Given the description of an element on the screen output the (x, y) to click on. 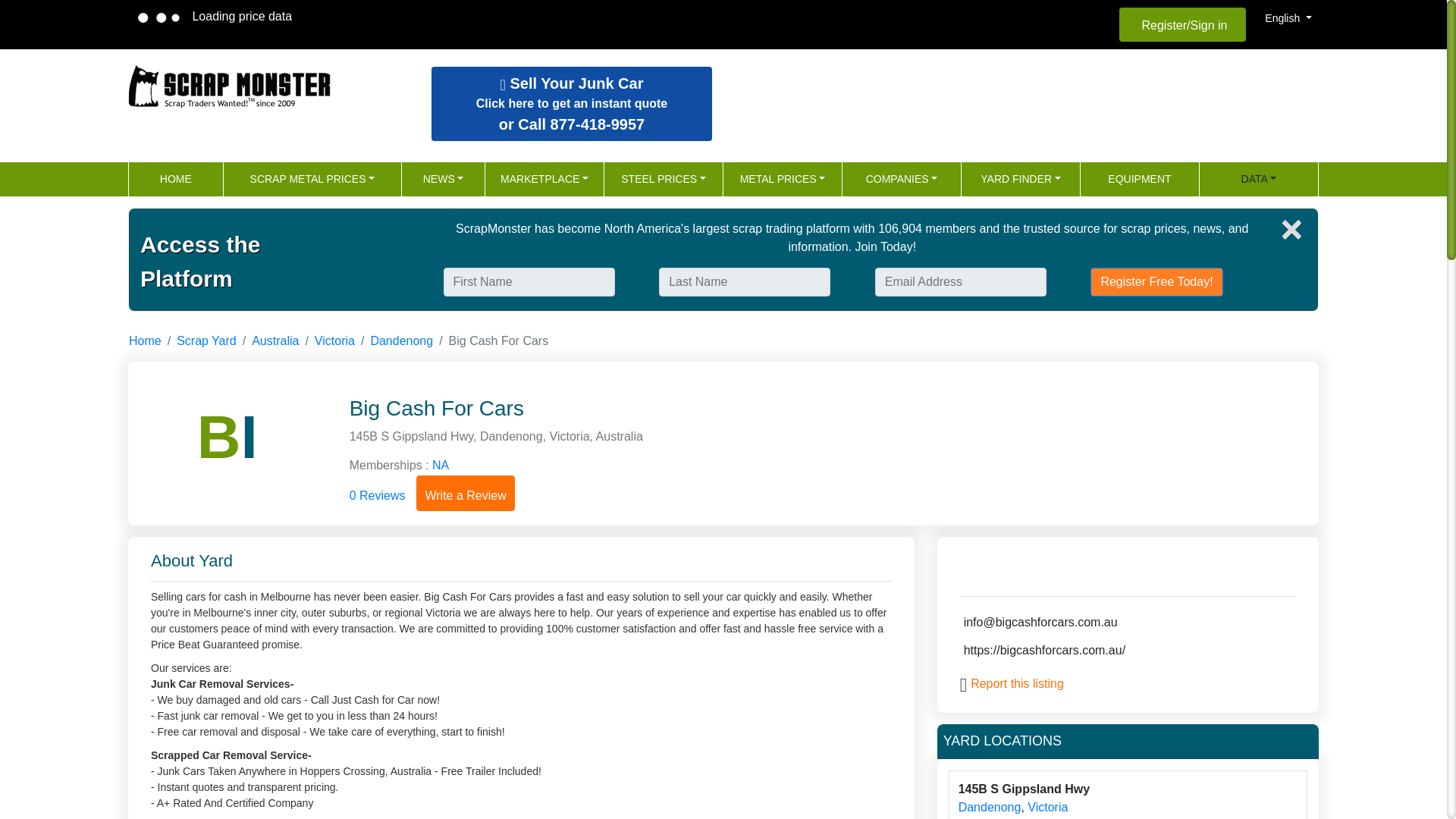
NEWS (571, 103)
ScrapMonster Home (442, 179)
Yard Finder (231, 84)
SCRAP METAL PRICES (1020, 179)
877-418-9957 (313, 179)
STEEL PRICES (597, 124)
English (663, 179)
METAL PRICES (1288, 18)
MARKETPLACE (783, 179)
